Given the description of an element on the screen output the (x, y) to click on. 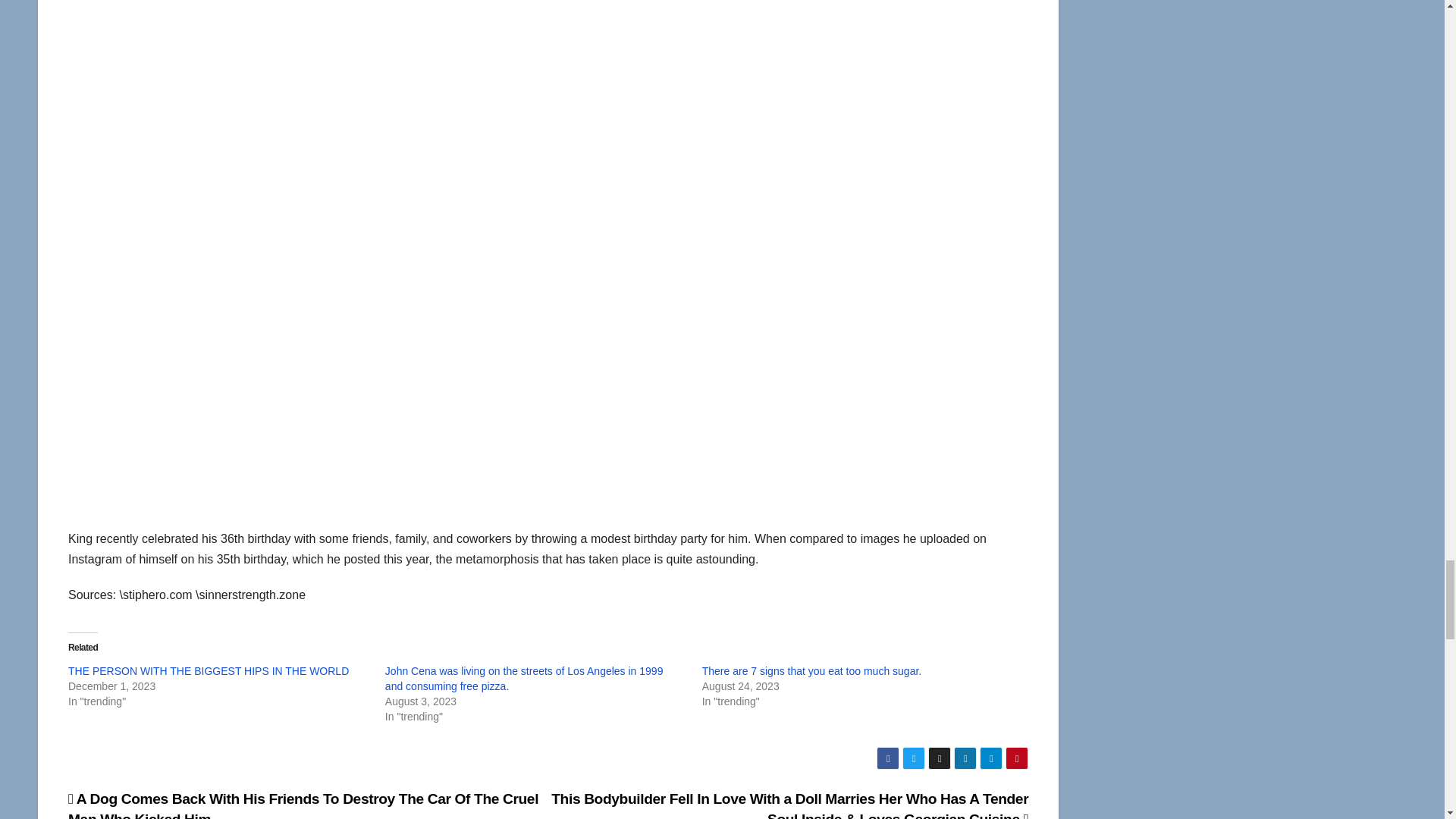
THE PERSON WITH THE BIGGEST HIPS IN THE WORLD (208, 671)
THE PERSON WITH THE BIGGEST HIPS IN THE WORLD (208, 671)
There are 7 signs that you eat too much sugar. (811, 671)
There are 7 signs that you eat too much sugar. (811, 671)
